Given the description of an element on the screen output the (x, y) to click on. 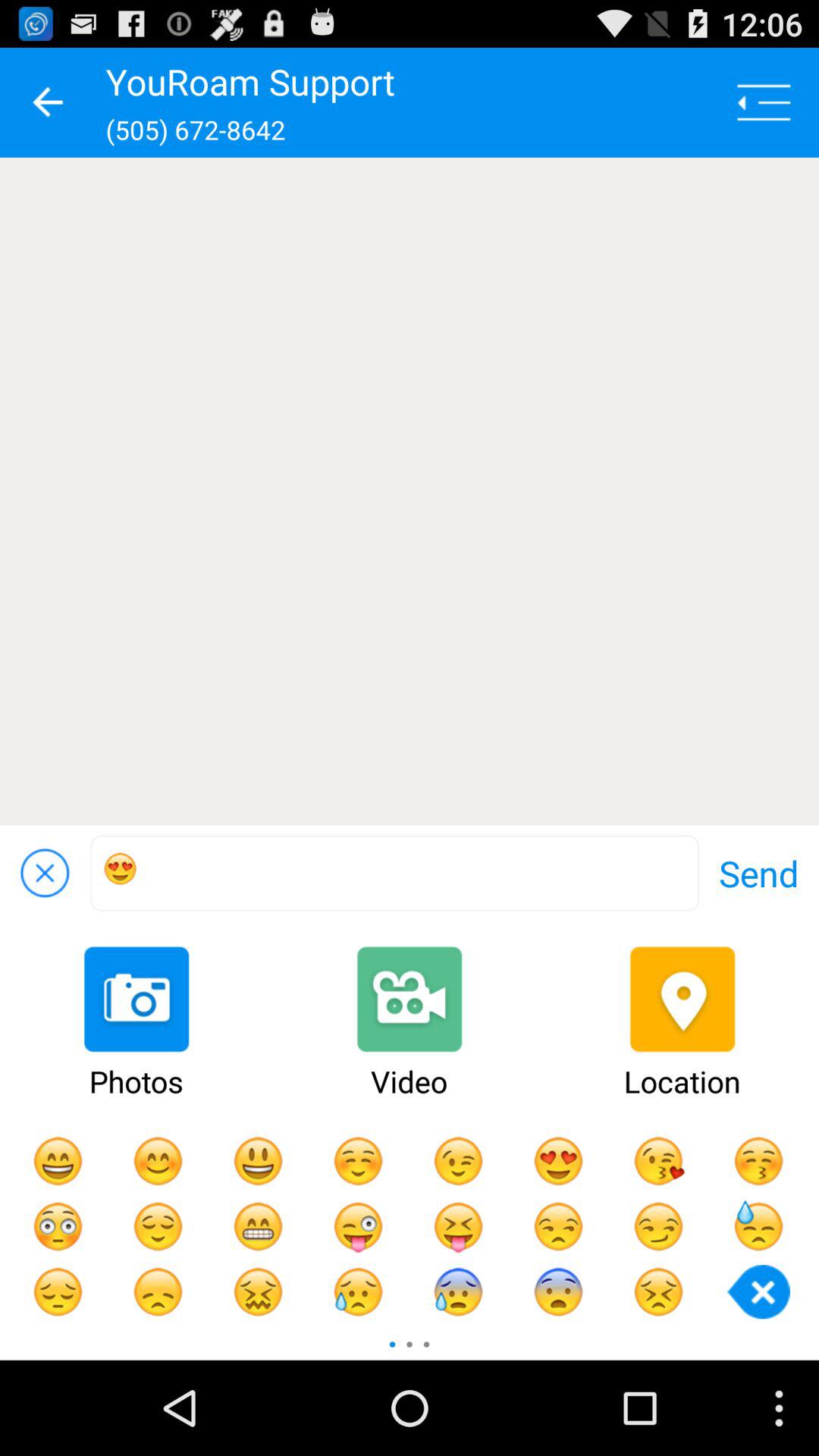
blank (409, 491)
